Given the description of an element on the screen output the (x, y) to click on. 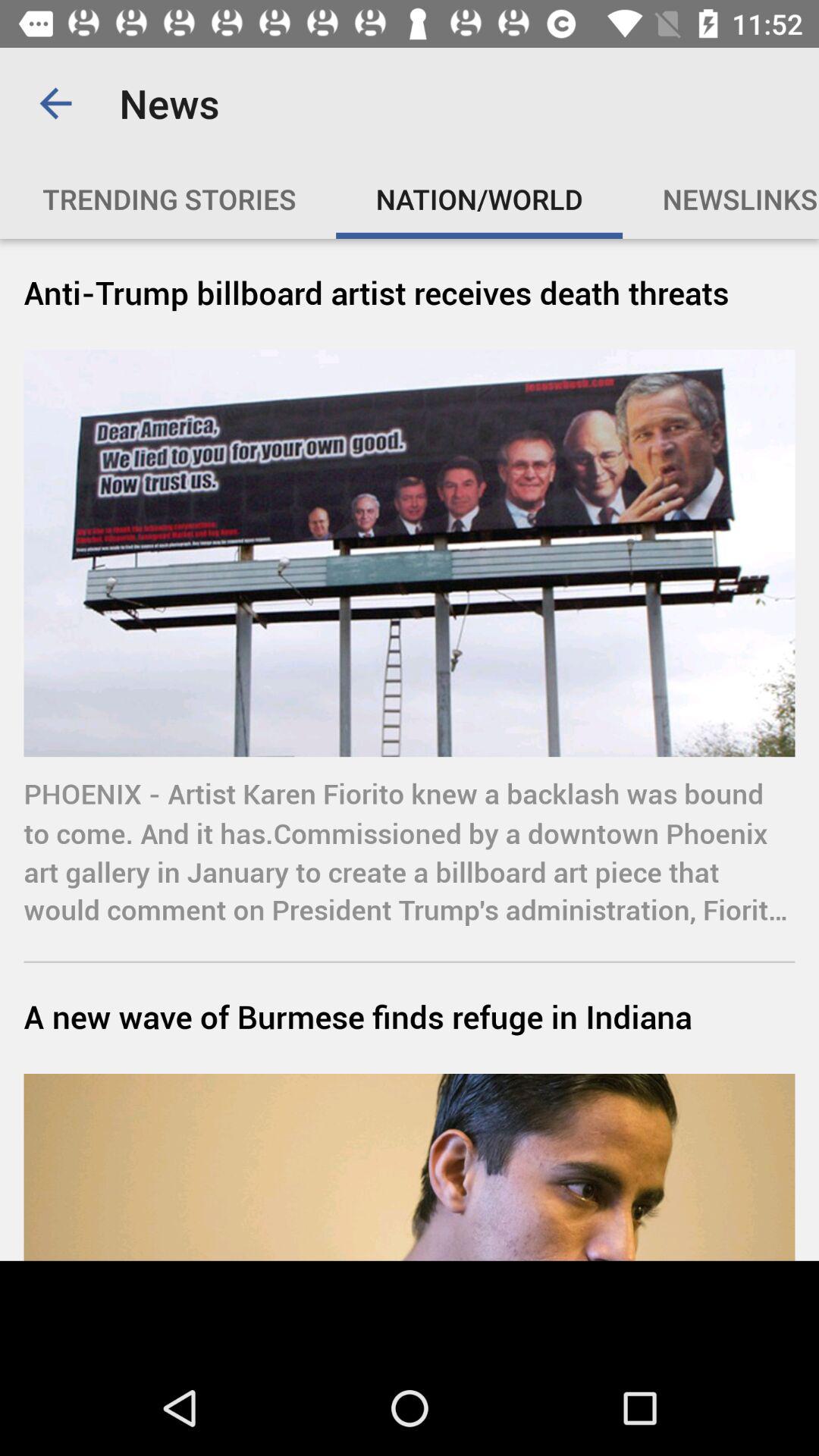
turn on app next to the news (55, 103)
